Given the description of an element on the screen output the (x, y) to click on. 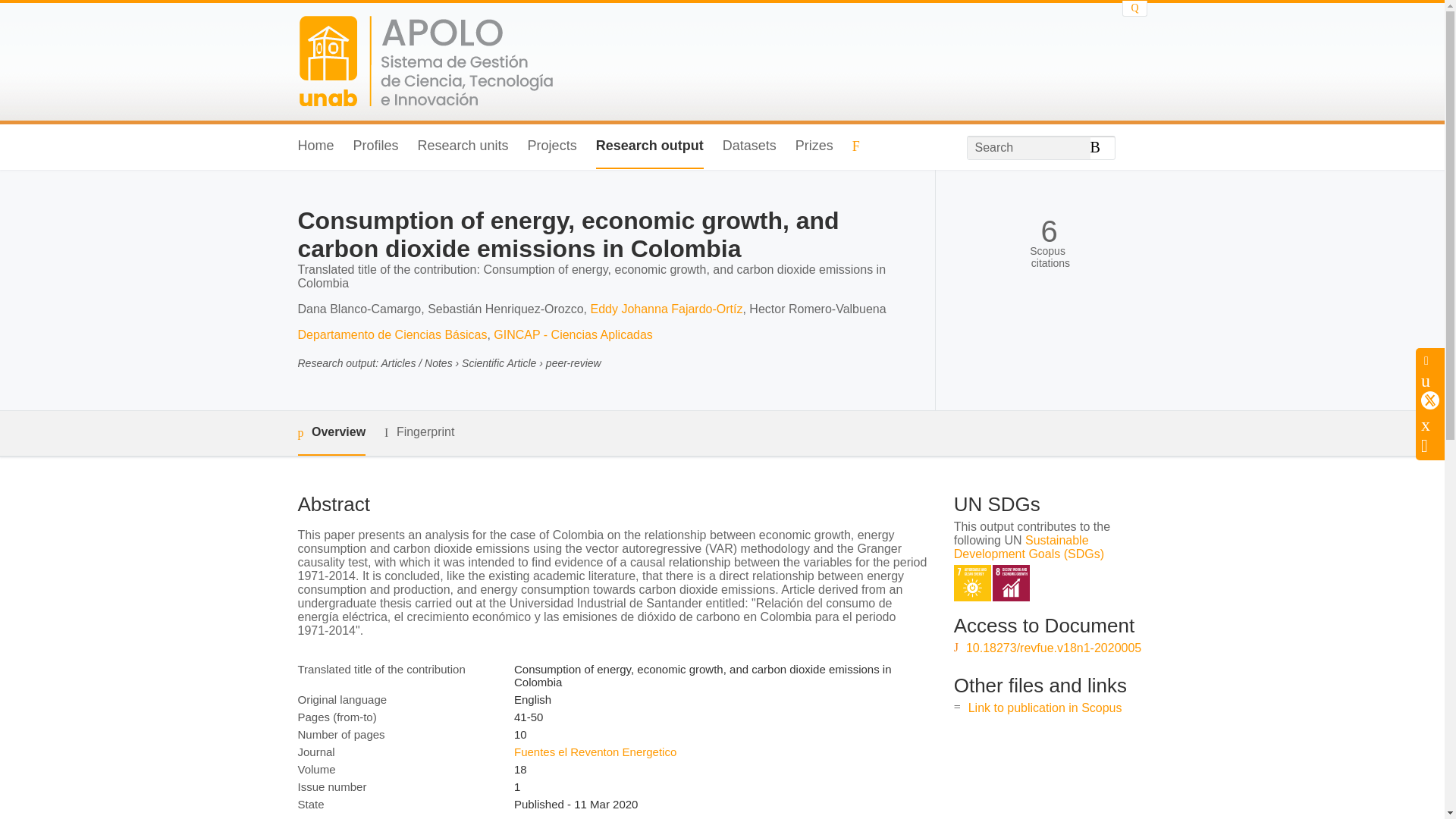
Fuentes el Reventon Energetico (595, 751)
Datasets (749, 146)
Fingerprint (419, 432)
GINCAP - Ciencias Aplicadas (572, 334)
Research units (462, 146)
Projects (551, 146)
Profiles (375, 146)
SDG 7 - Affordable and Clean Energy (972, 583)
Link to publication in Scopus (1045, 707)
Overview (331, 433)
